Given the description of an element on the screen output the (x, y) to click on. 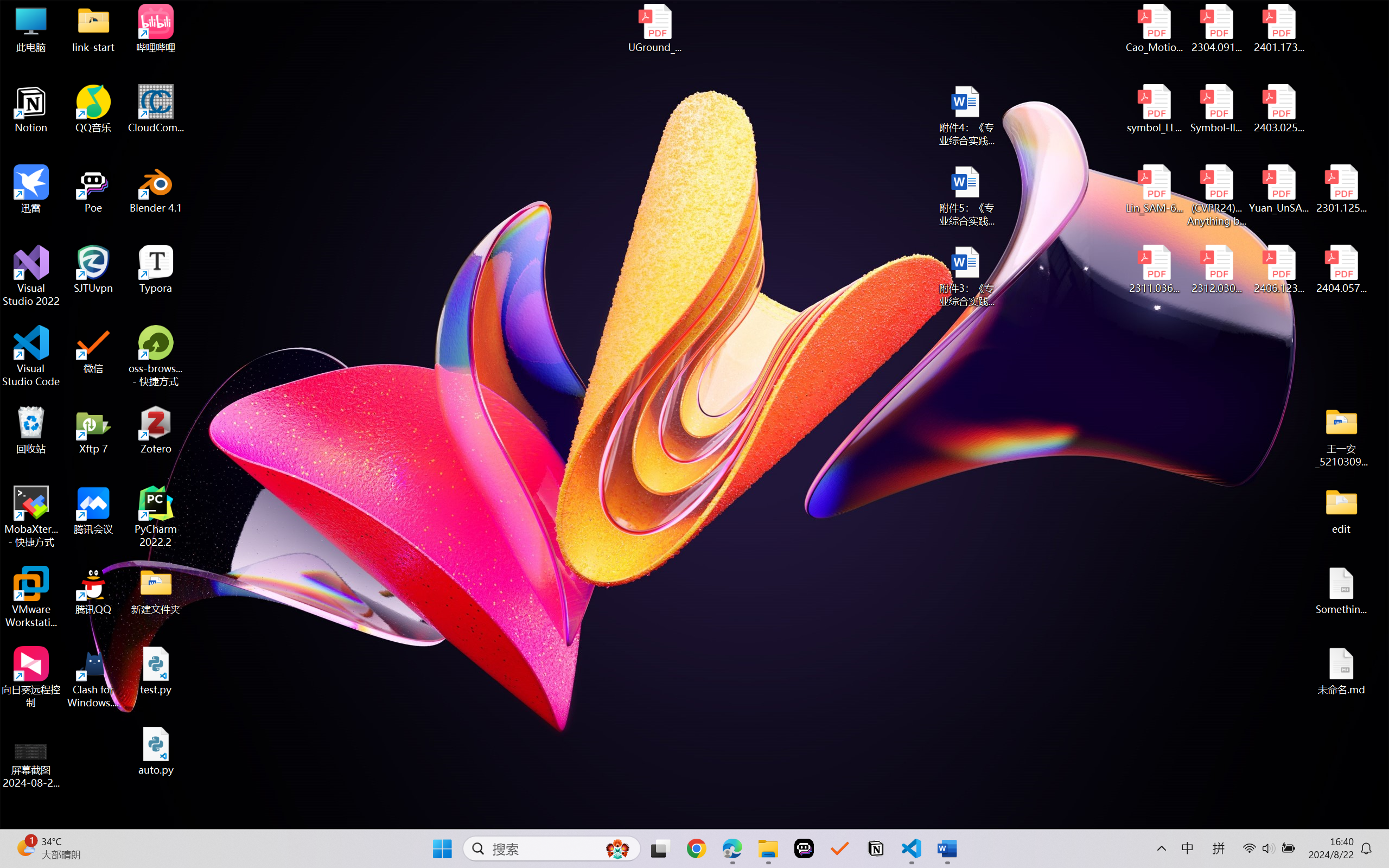
symbol_LLM.pdf (1154, 109)
2301.12597v3.pdf (1340, 189)
Google Chrome (696, 848)
